Given the description of an element on the screen output the (x, y) to click on. 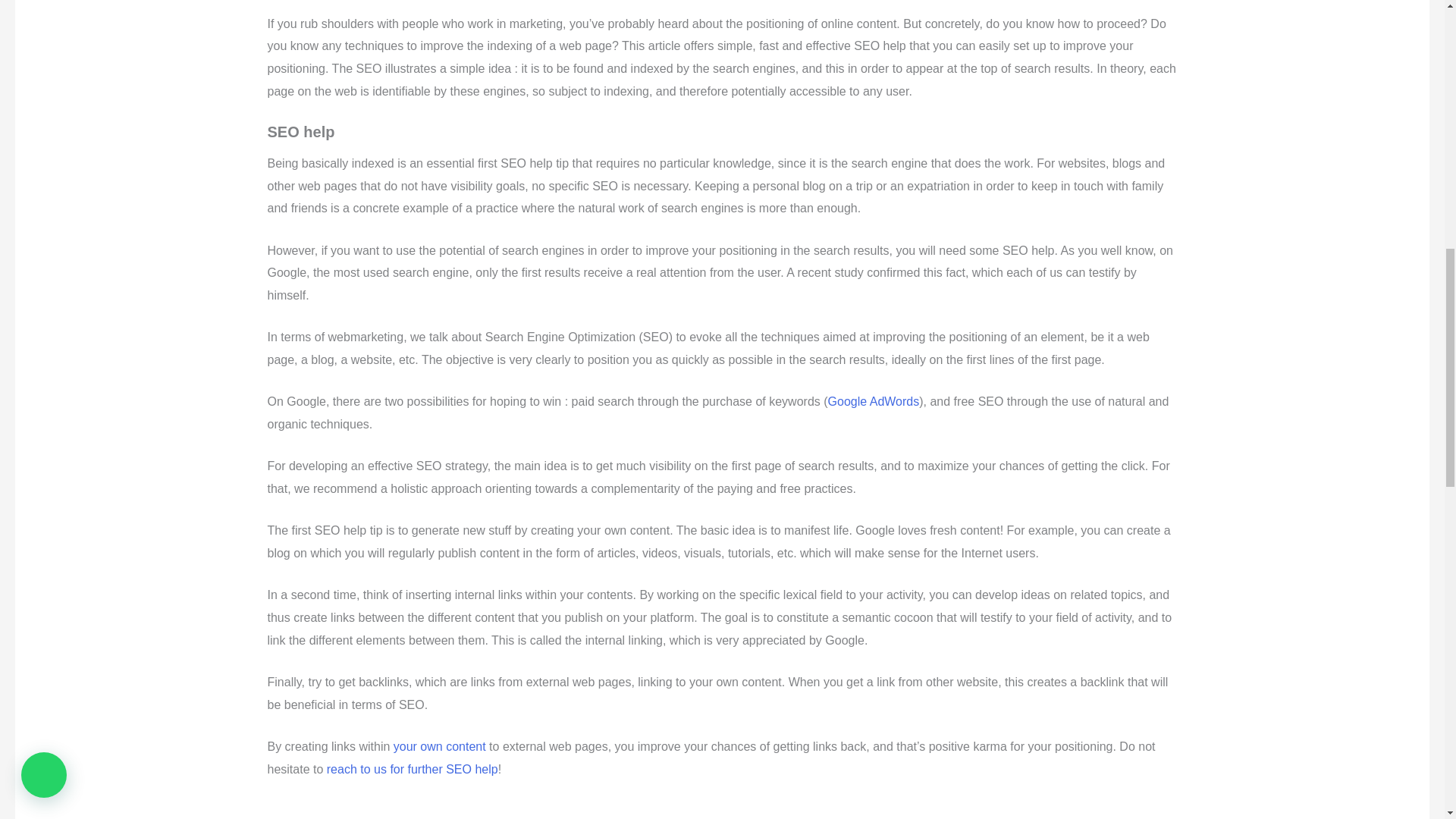
your own content (439, 746)
reach to us for further SEO help (411, 768)
Google AdWords (874, 400)
